Given the description of an element on the screen output the (x, y) to click on. 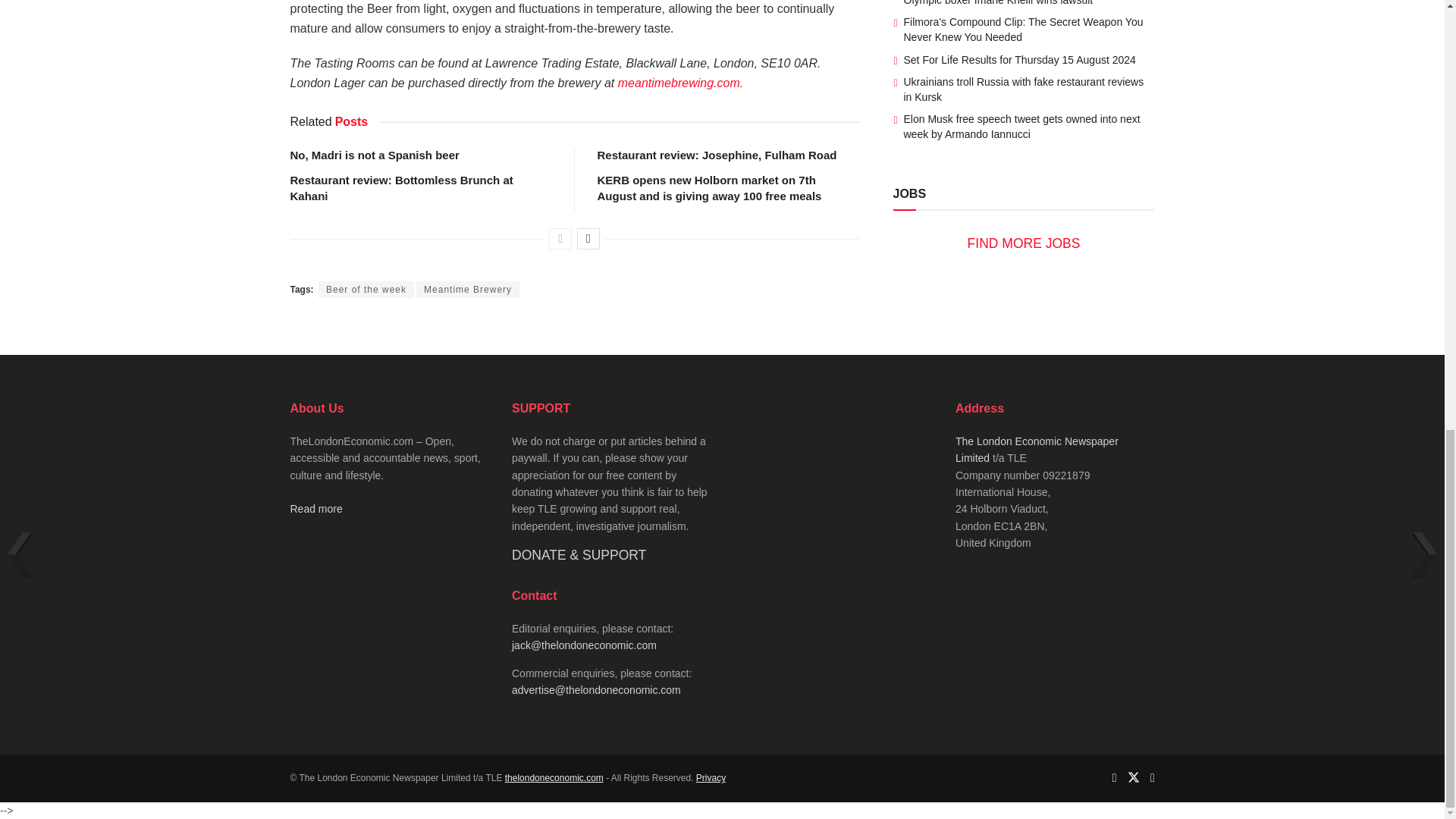
The London Economic (554, 777)
Next (587, 238)
Privacy (710, 777)
Previous (560, 238)
